Given the description of an element on the screen output the (x, y) to click on. 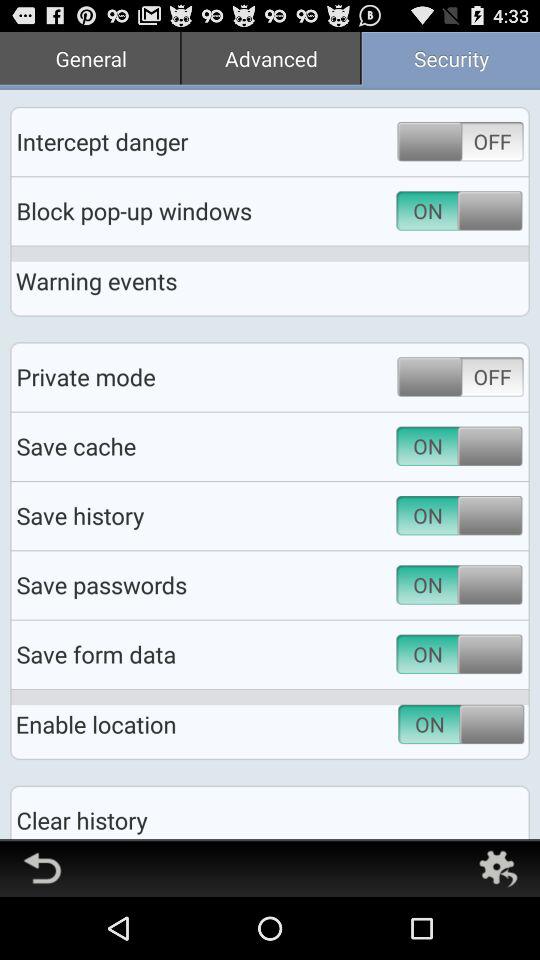
back to settings (498, 868)
